Given the description of an element on the screen output the (x, y) to click on. 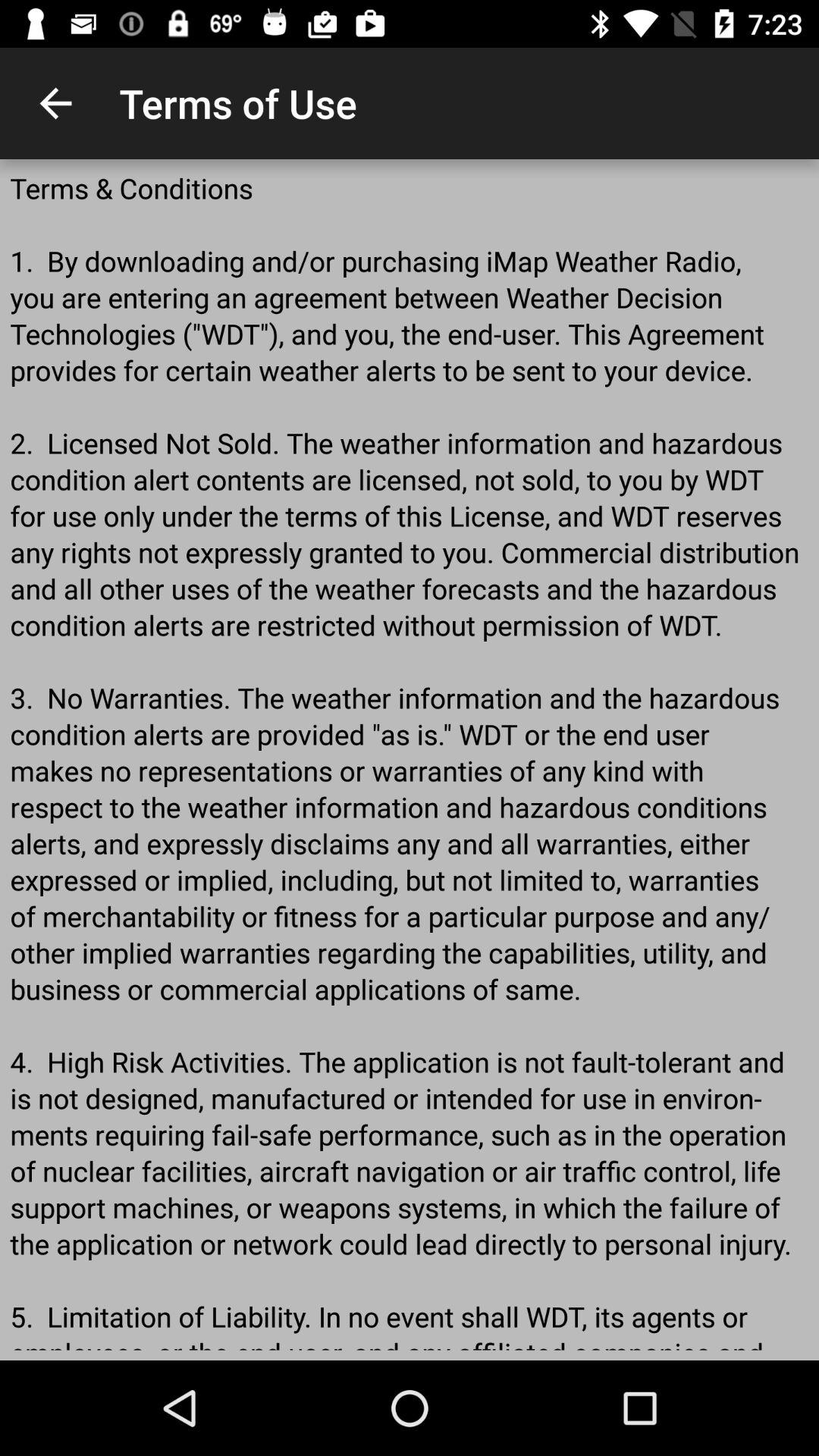
choose the item next to terms of use item (55, 103)
